Given the description of an element on the screen output the (x, y) to click on. 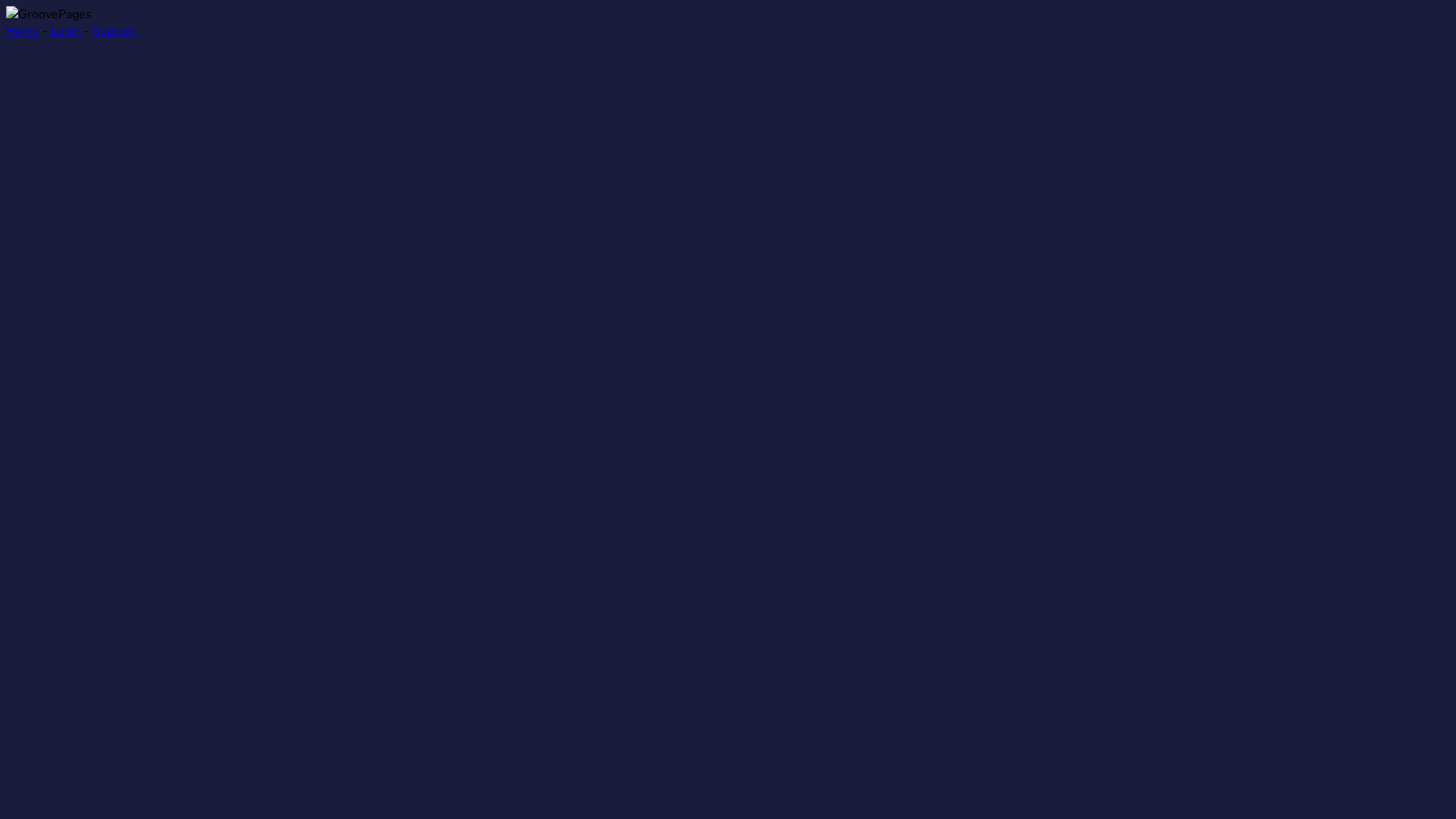
Login Element type: text (65, 30)
Support Element type: text (114, 30)
Home Element type: text (22, 30)
